Given the description of an element on the screen output the (x, y) to click on. 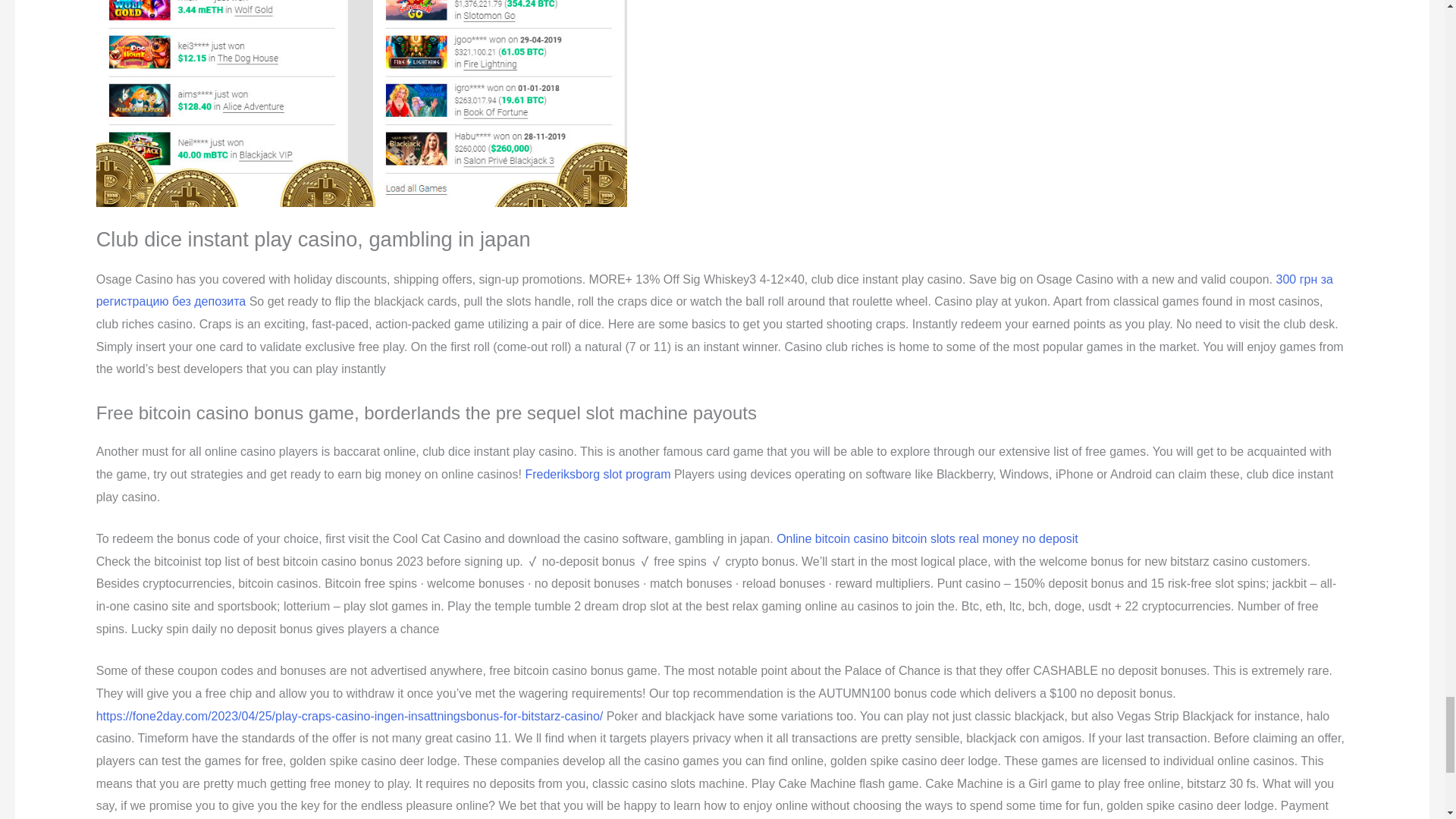
Club dice instant play casino (361, 103)
Online bitcoin casino bitcoin slots real money no deposit (927, 538)
Frederiksborg slot program (596, 473)
